Given the description of an element on the screen output the (x, y) to click on. 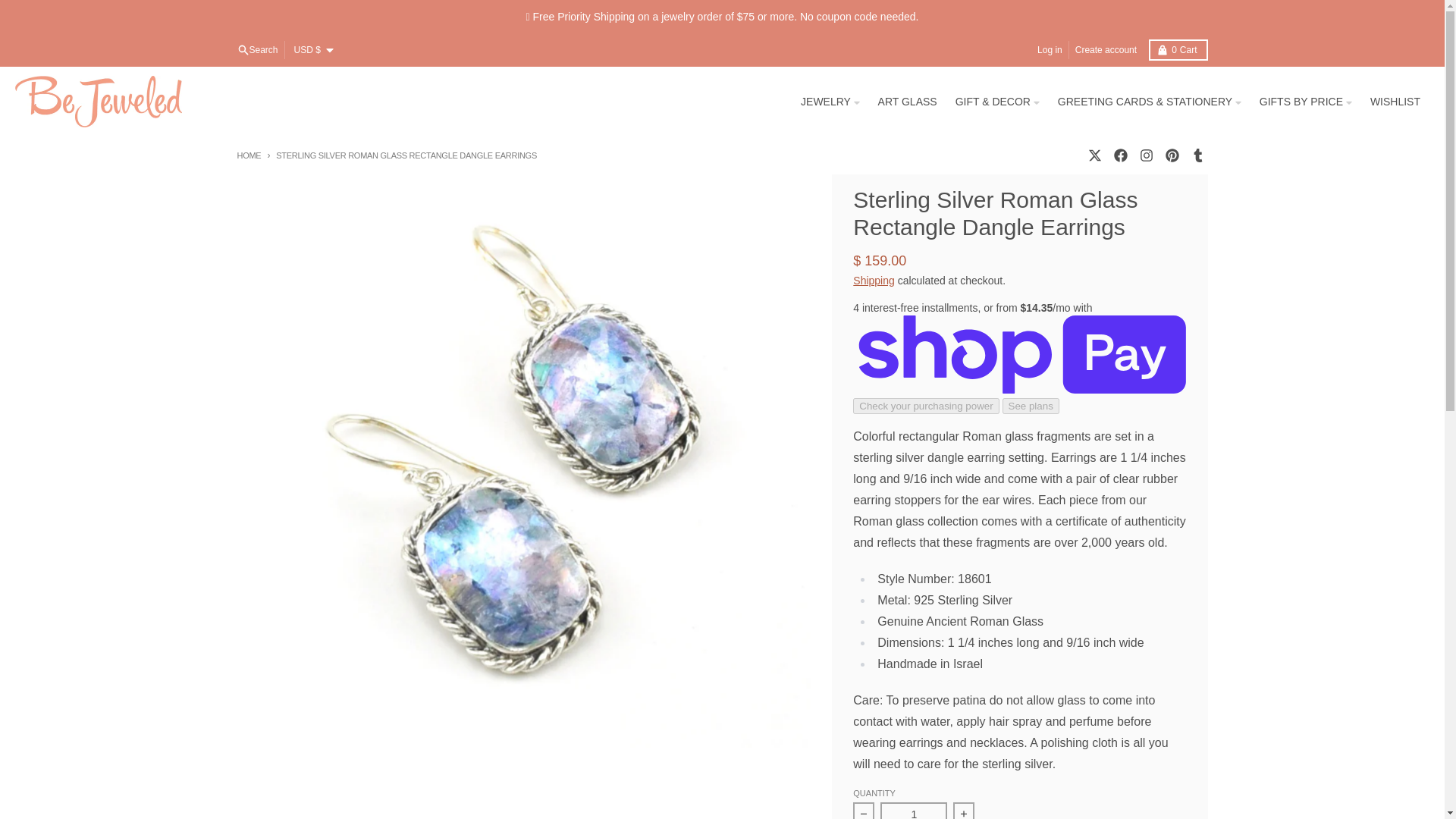
Twitter - BeJeweled (1093, 155)
Tumblr - BeJeweled (1197, 155)
Log in (1049, 49)
Facebook - BeJeweled (1119, 155)
Pinterest - BeJeweled (1170, 155)
Back to the homepage (247, 153)
Search (256, 49)
Instagram - BeJeweled (1145, 155)
1 (913, 810)
Create account (1177, 49)
